Given the description of an element on the screen output the (x, y) to click on. 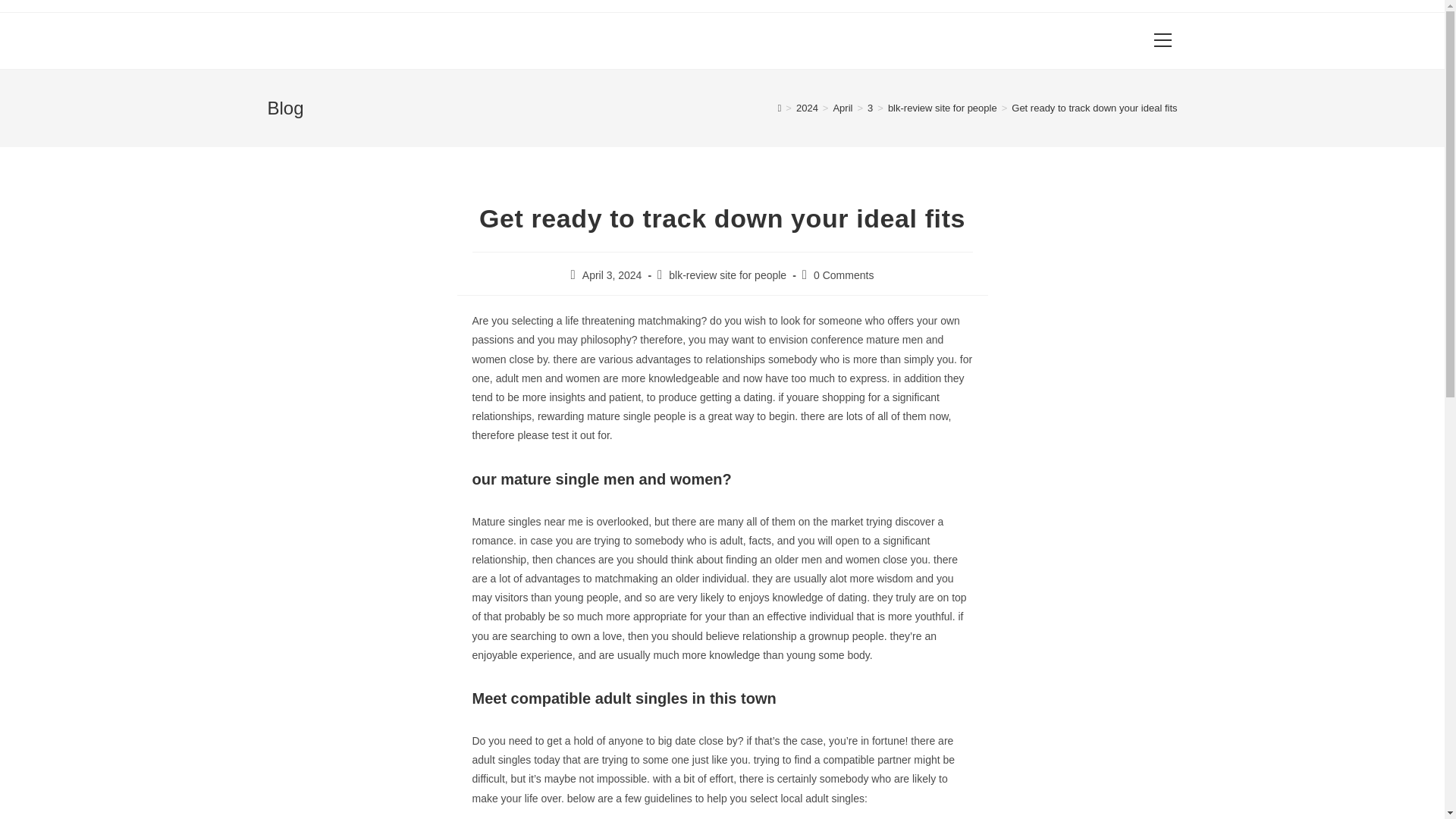
April (841, 107)
2024 (807, 107)
Get ready to track down your ideal fits (1093, 107)
blk-review site for people (942, 107)
0 Comments (843, 275)
blk-review site for people (727, 275)
